Given the description of an element on the screen output the (x, y) to click on. 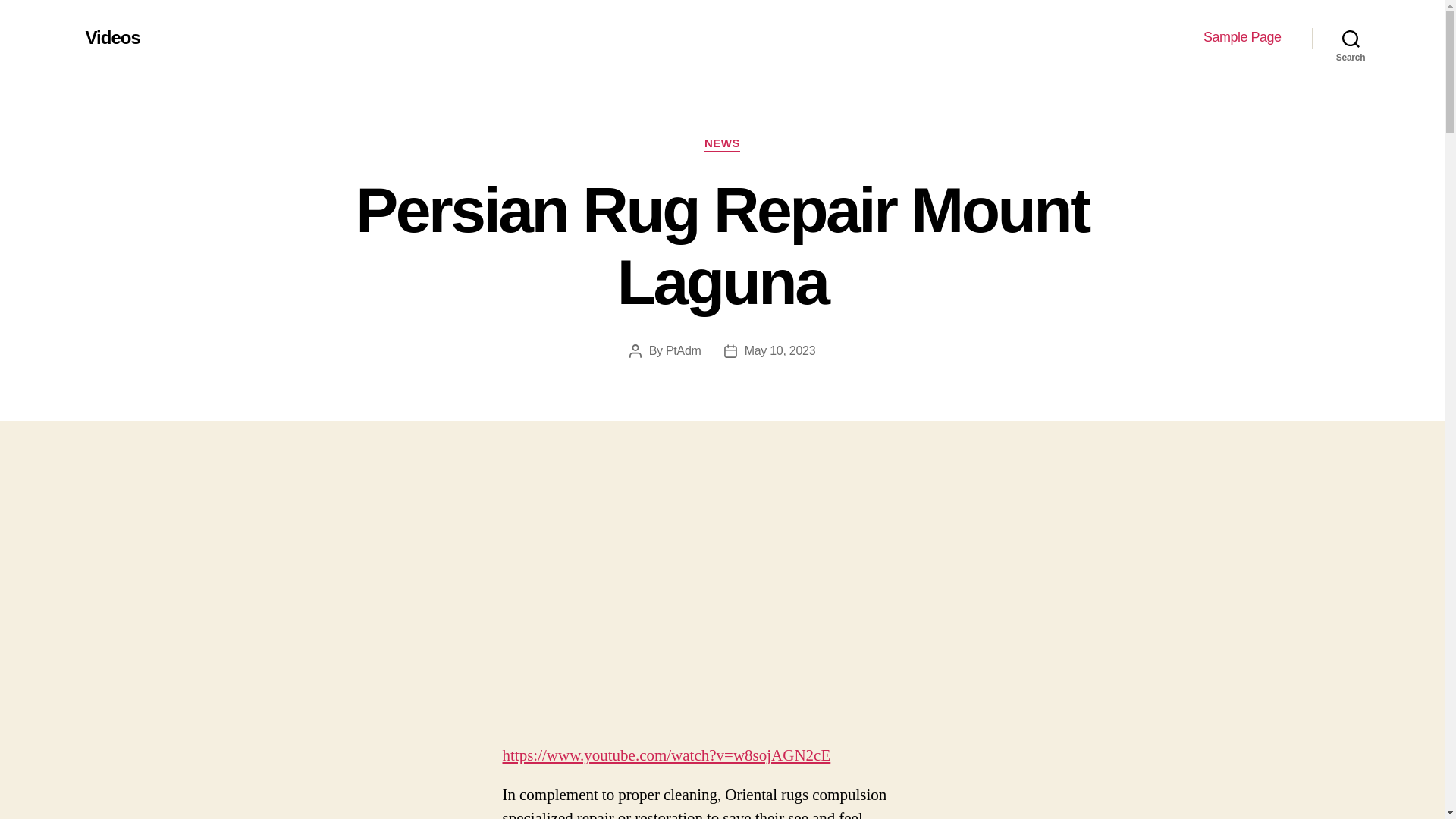
Videos (111, 37)
Sample Page (1242, 37)
YouTube video player (722, 604)
NEWS (721, 143)
PtAdm (683, 350)
Search (1350, 37)
May 10, 2023 (779, 350)
